Given the description of an element on the screen output the (x, y) to click on. 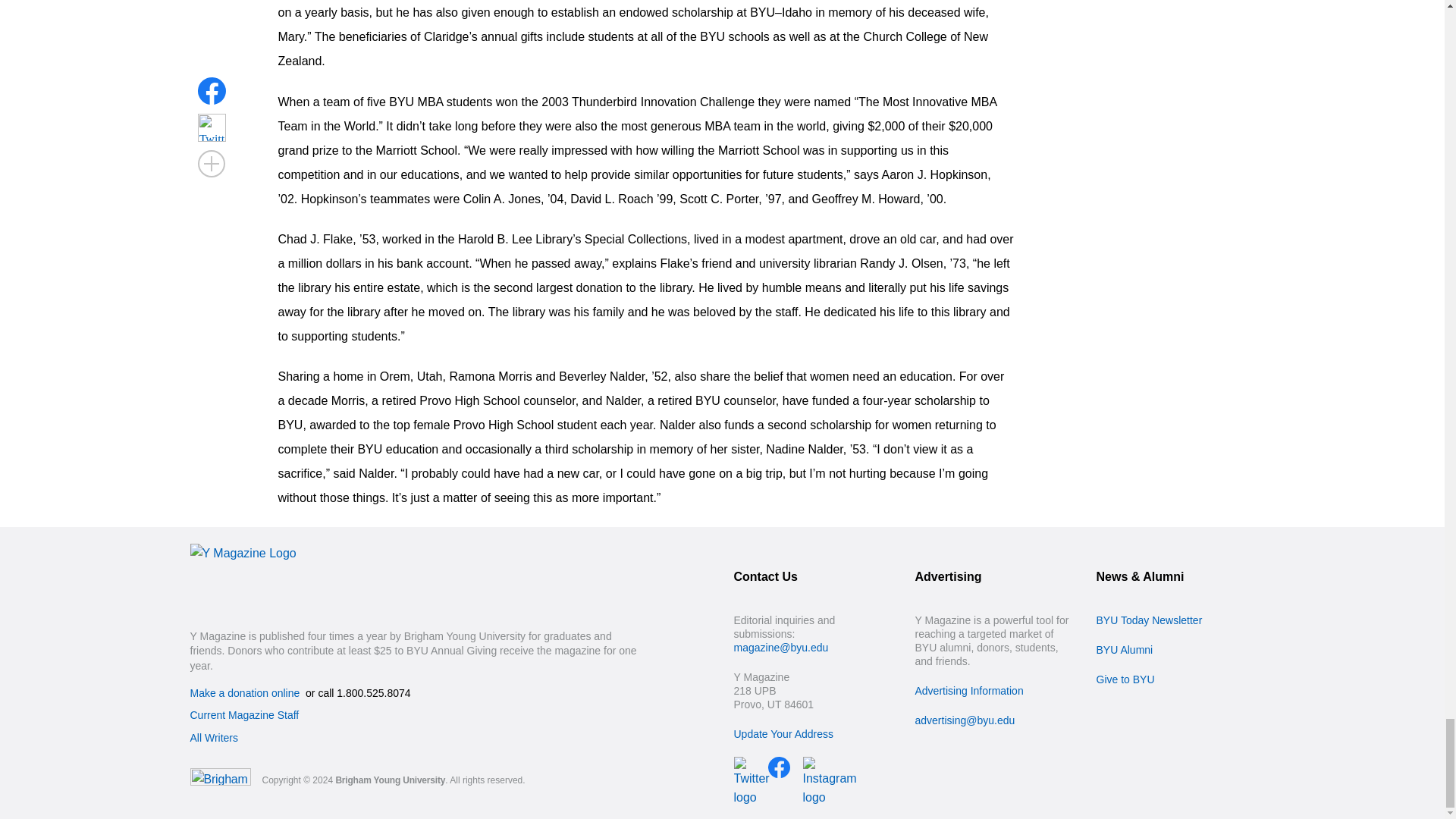
Update Your Address (783, 734)
Current Magazine Staff (243, 715)
Make a donation online (244, 693)
All Writers (213, 737)
